Given the description of an element on the screen output the (x, y) to click on. 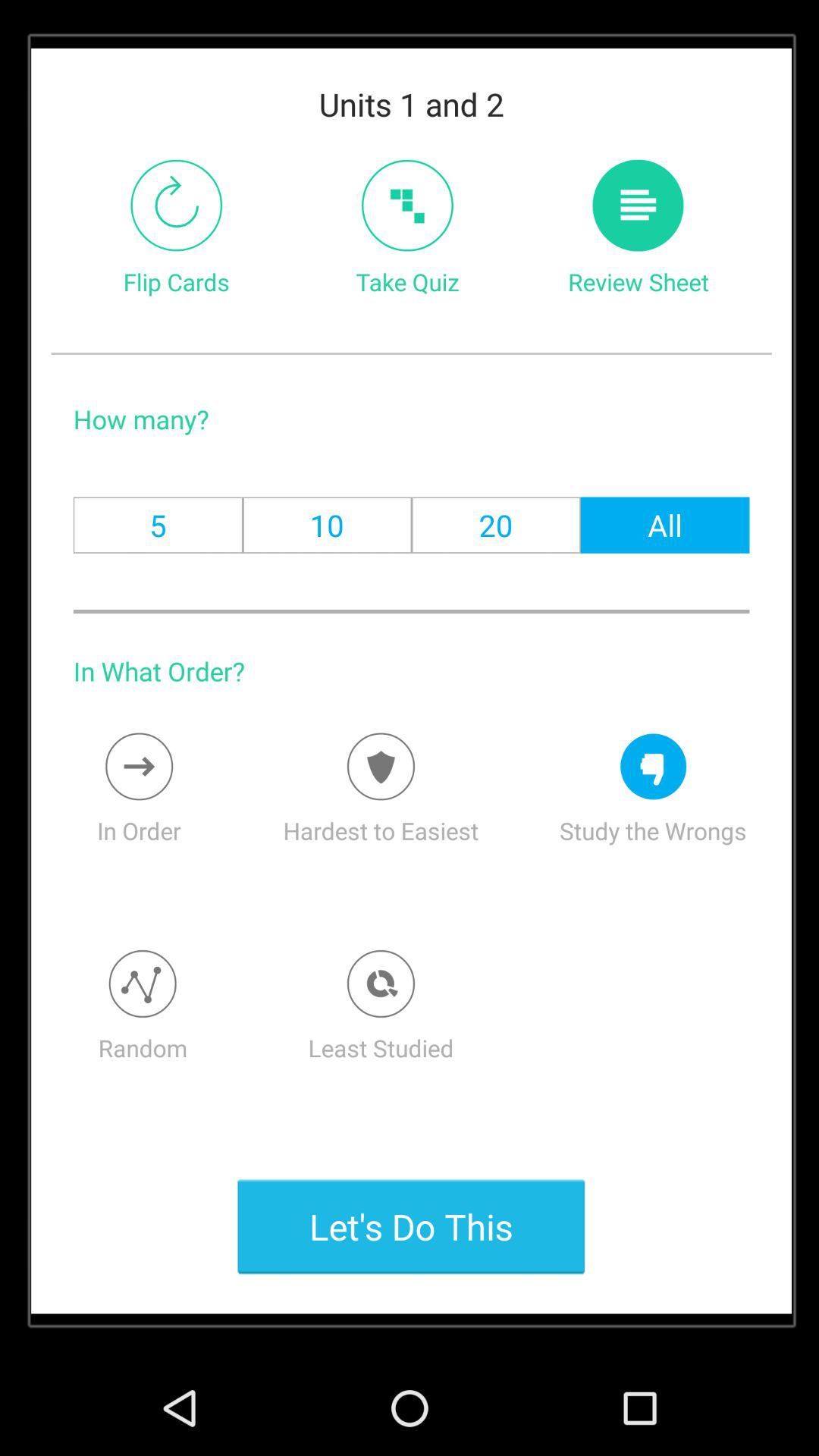
sort from hardest to easiest (380, 766)
